Given the description of an element on the screen output the (x, y) to click on. 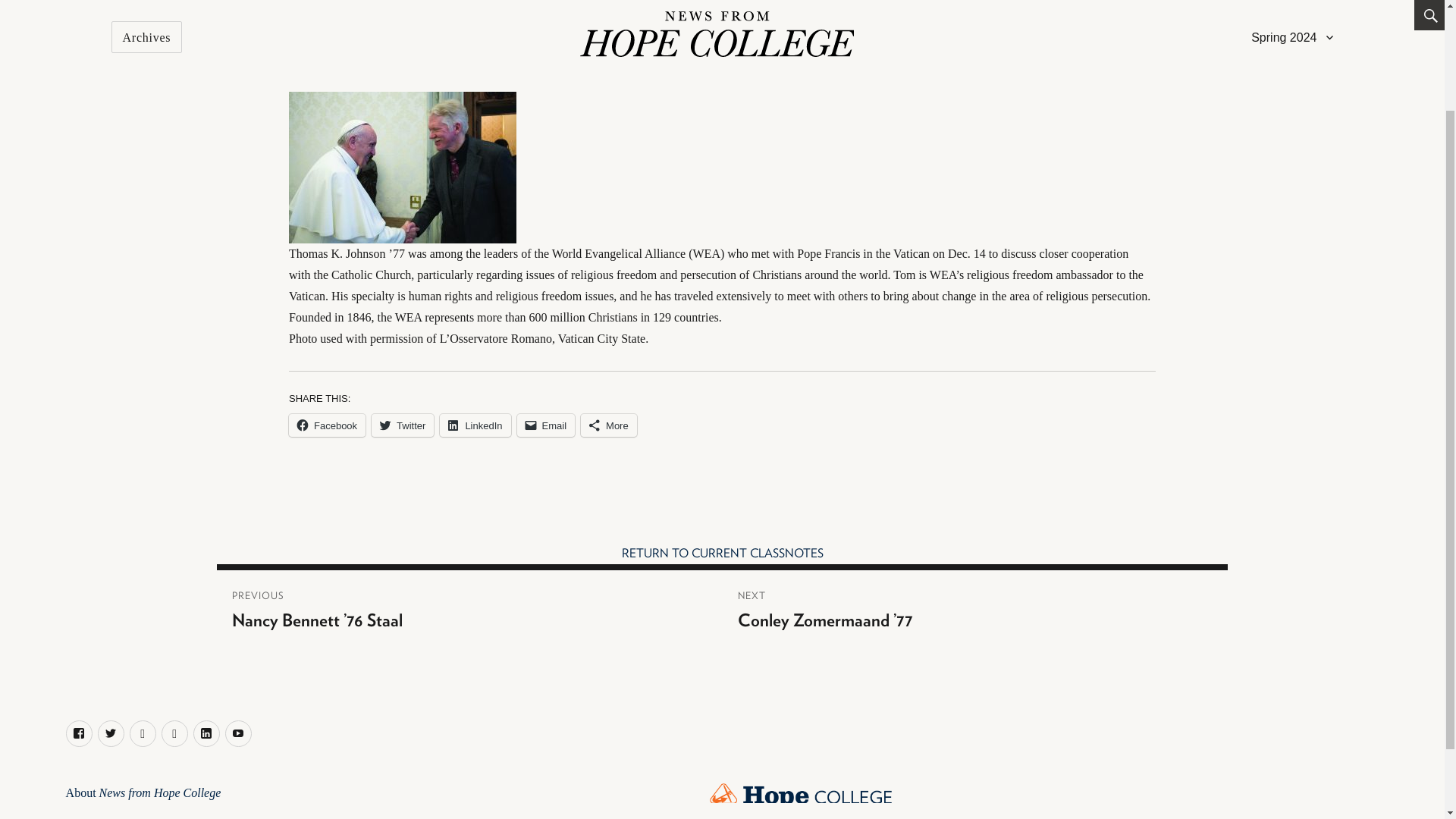
LinkedIn (475, 425)
Facebook (326, 425)
Click to share on LinkedIn (475, 425)
More (608, 425)
Twitter (402, 425)
Email (545, 425)
Click to email a link to a friend (545, 425)
Click to share on Twitter (402, 425)
Click to share on Facebook (326, 425)
